Given the description of an element on the screen output the (x, y) to click on. 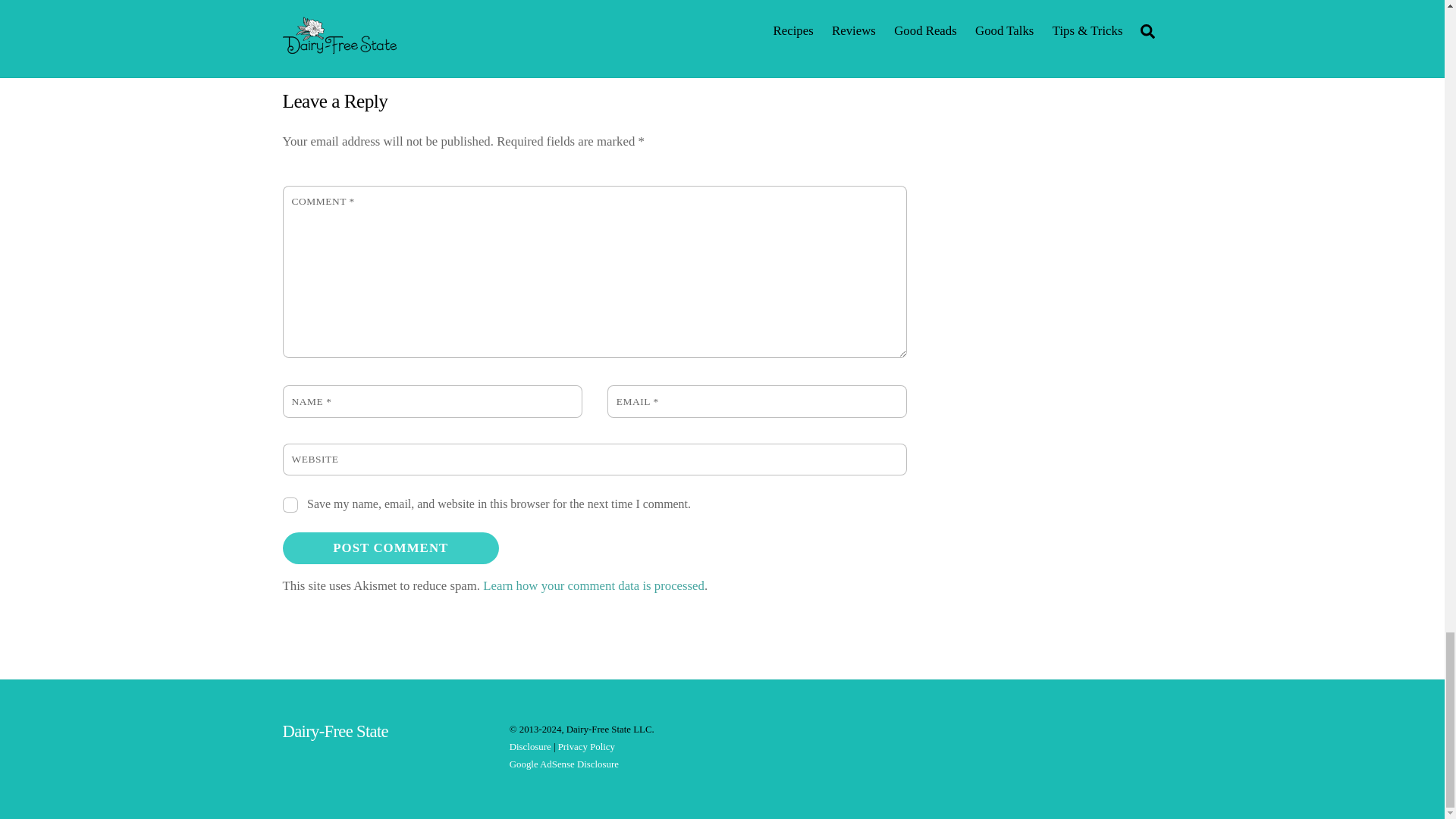
Dairy-Free State (334, 731)
MOD Pizza: Dairy-Free Pizza Lovers, Rejoice!  (584, 13)
Post Comment (390, 548)
yes (289, 504)
